Given the description of an element on the screen output the (x, y) to click on. 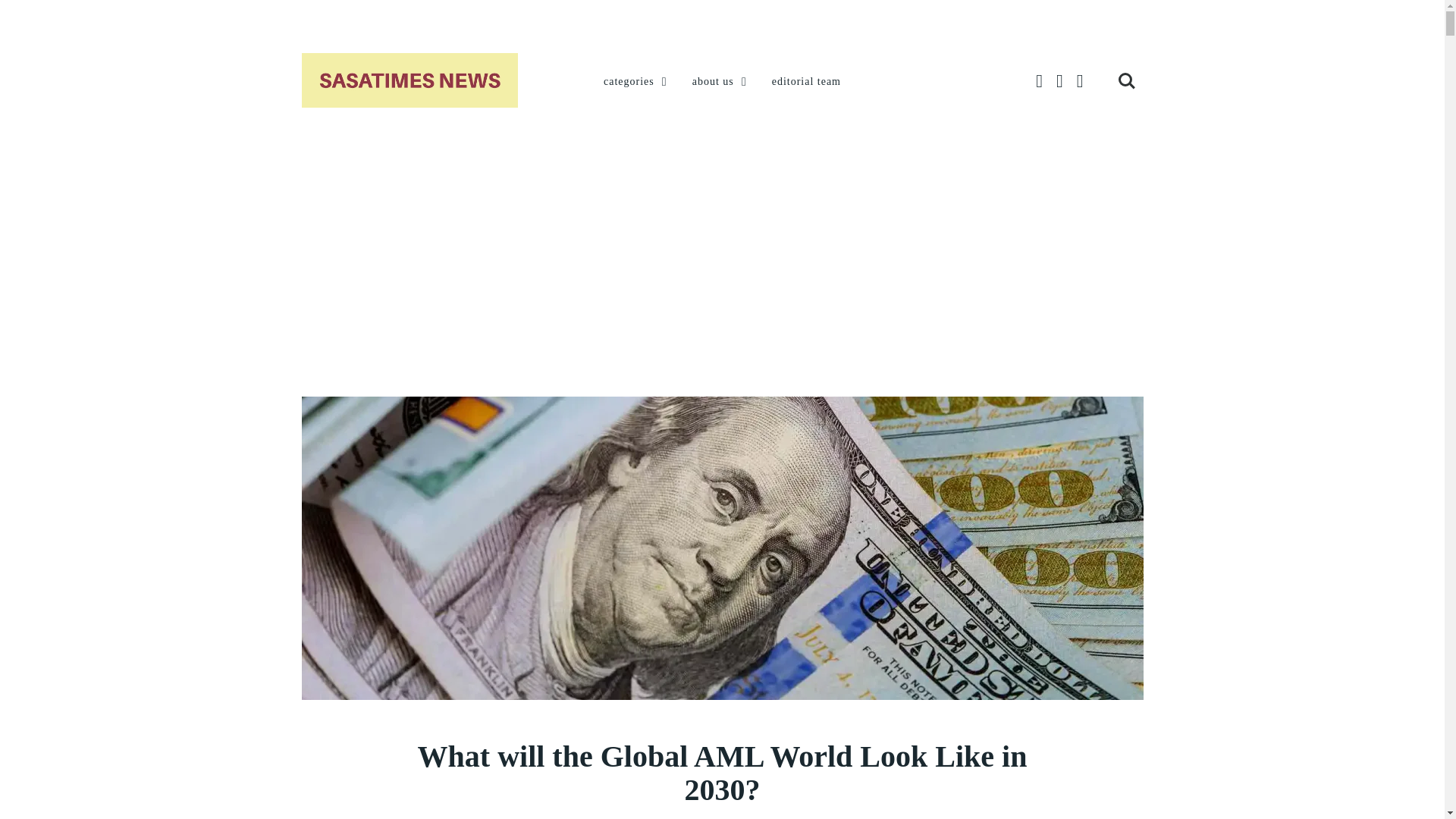
categories (636, 81)
editorial team (806, 81)
about us (721, 81)
